Given the description of an element on the screen output the (x, y) to click on. 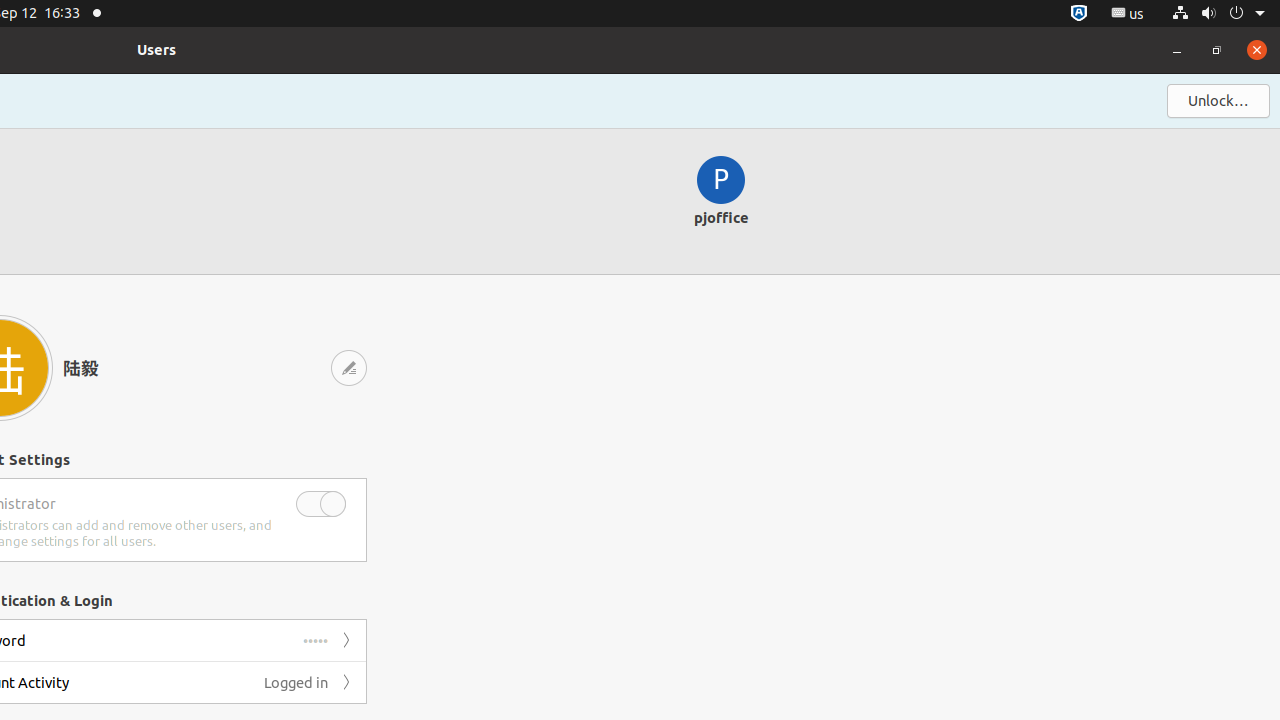
Minimize Element type: push-button (1177, 50)
••••• Element type: label (315, 640)
pjoffice Element type: radio-button (721, 201)
Forward Element type: icon (346, 682)
